Given the description of an element on the screen output the (x, y) to click on. 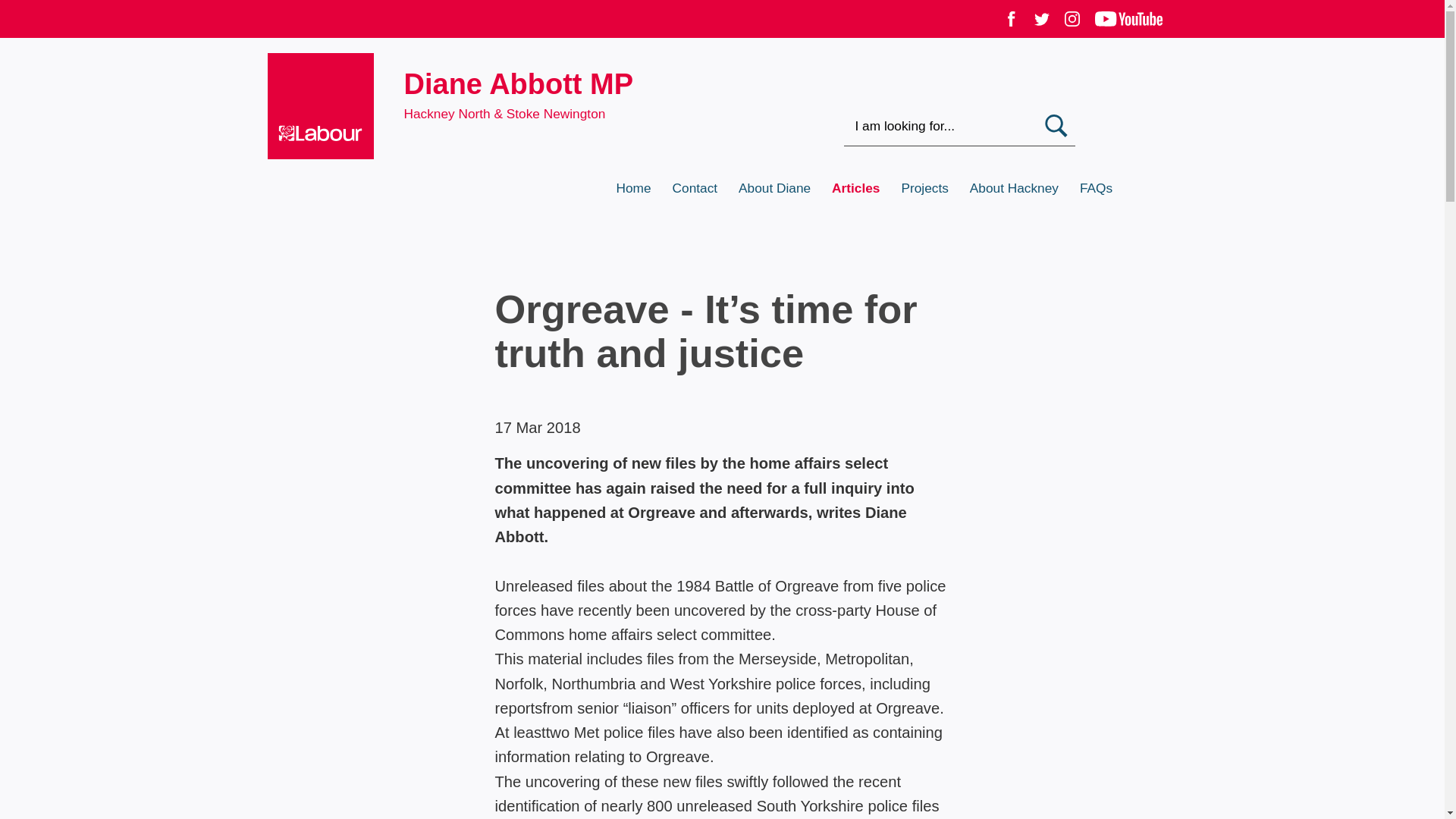
Watch us on YouTube (1127, 23)
About Diane (784, 187)
Home (643, 187)
Join the conversation on Twitter (1041, 23)
Labour Party (334, 156)
Find us on facebook (1011, 23)
FAQs (1107, 187)
Contact (705, 187)
View our Instagram page (1072, 23)
About Hackney (1024, 187)
